Given the description of an element on the screen output the (x, y) to click on. 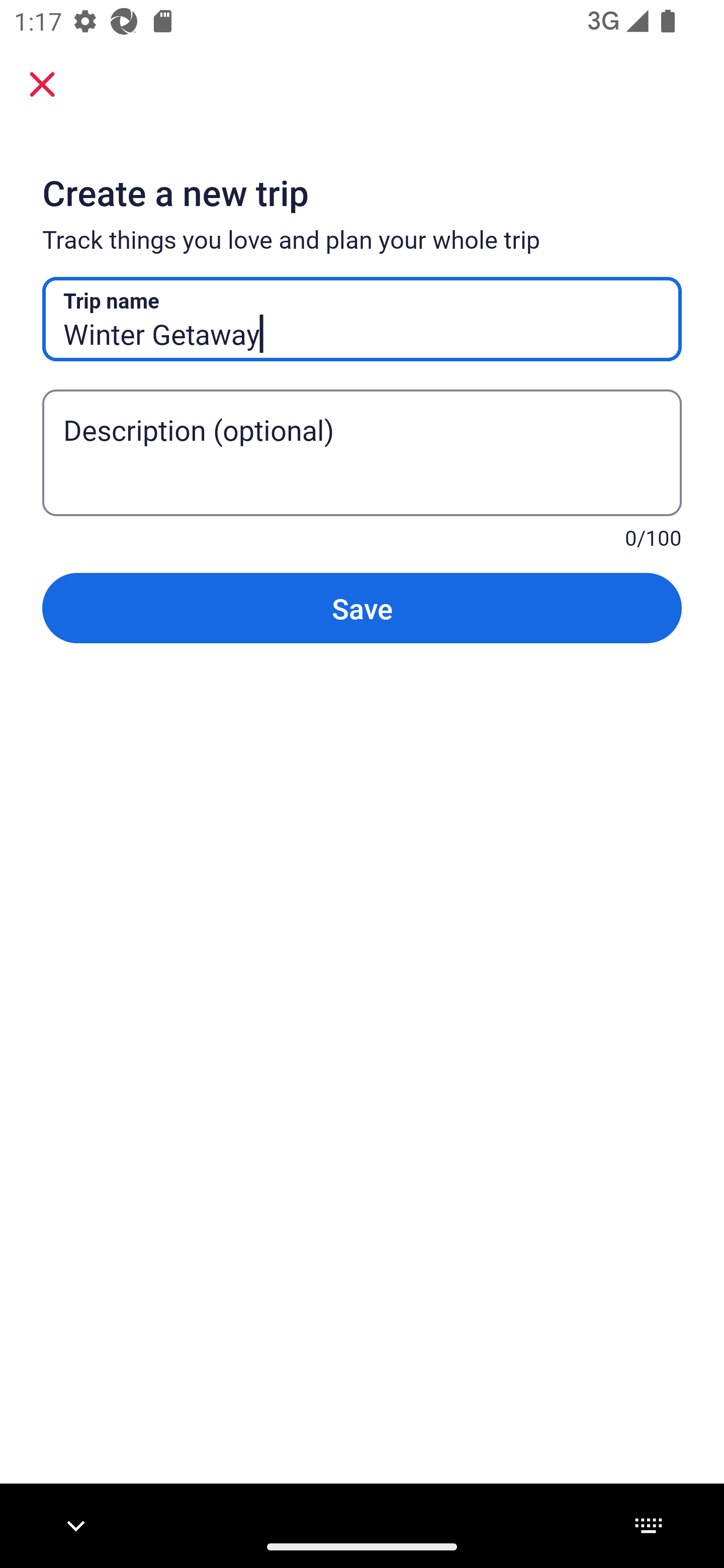
Close (42, 84)
Winter Getaway Trip name Trip name (361, 318)
Save Button Save (361, 607)
